Given the description of an element on the screen output the (x, y) to click on. 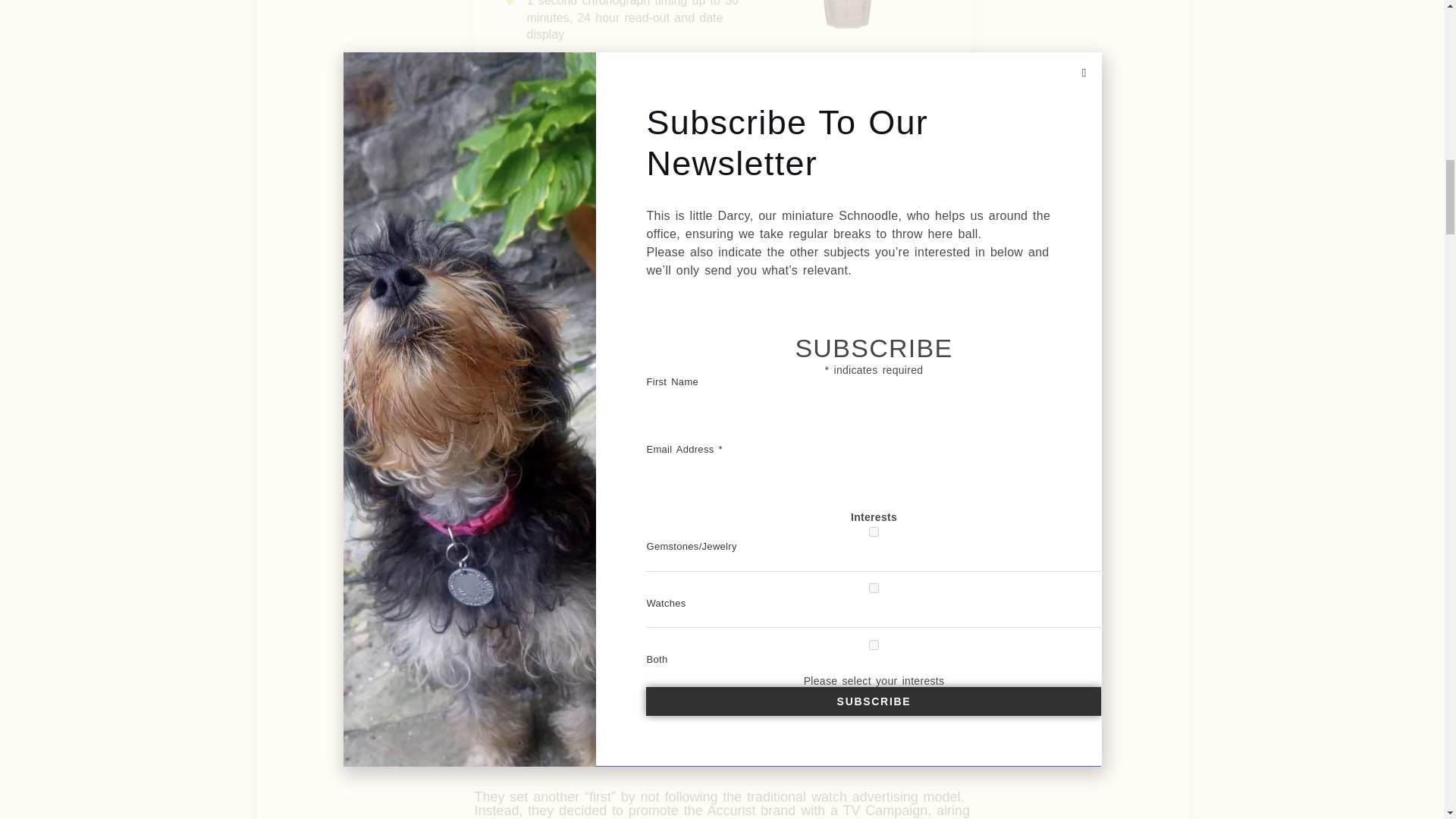
Buy on Amazon (869, 265)
